Given the description of an element on the screen output the (x, y) to click on. 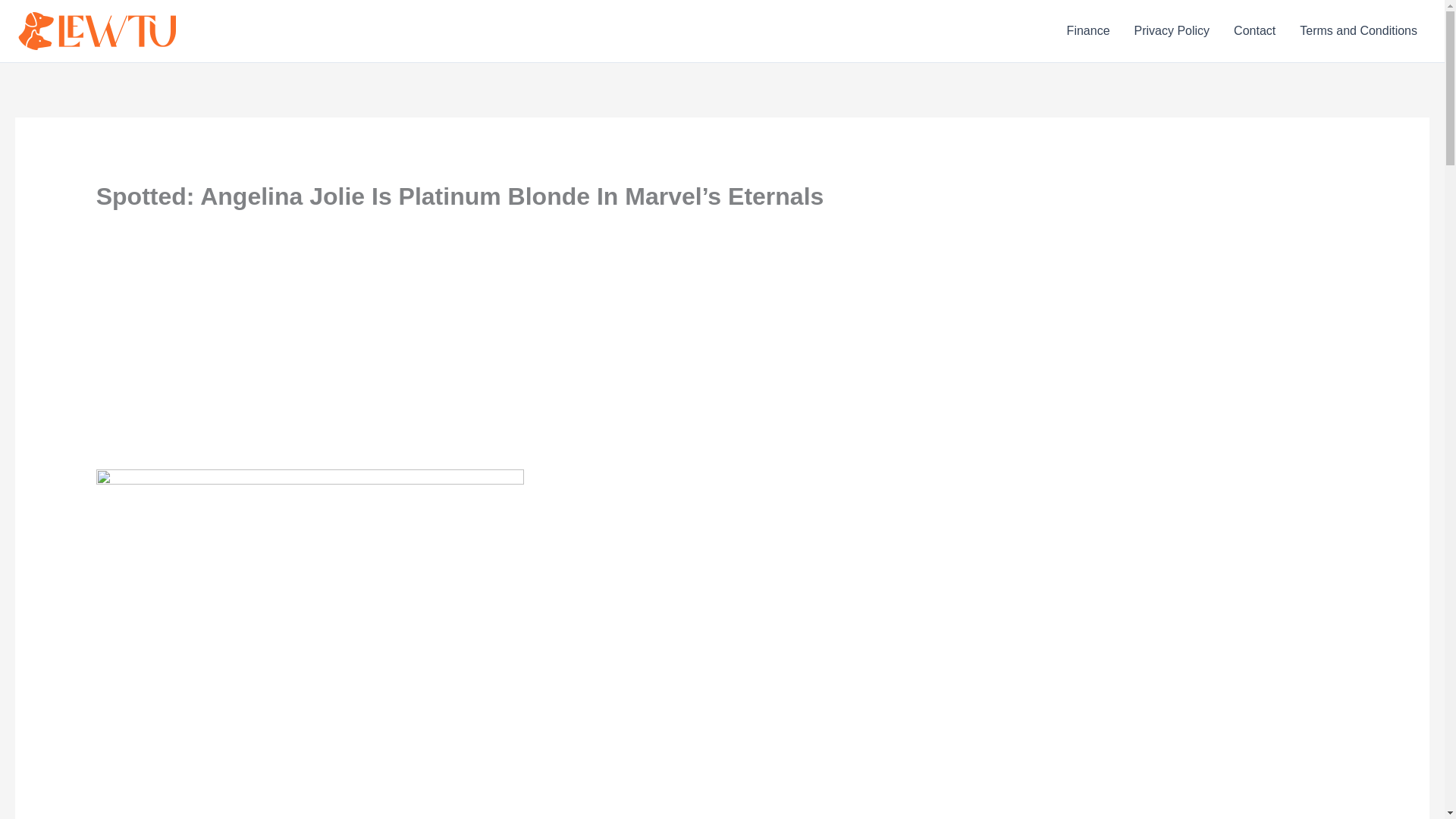
Privacy Policy (1172, 30)
Finance (1088, 30)
Terms and Conditions (1358, 30)
Contact (1254, 30)
